Given the description of an element on the screen output the (x, y) to click on. 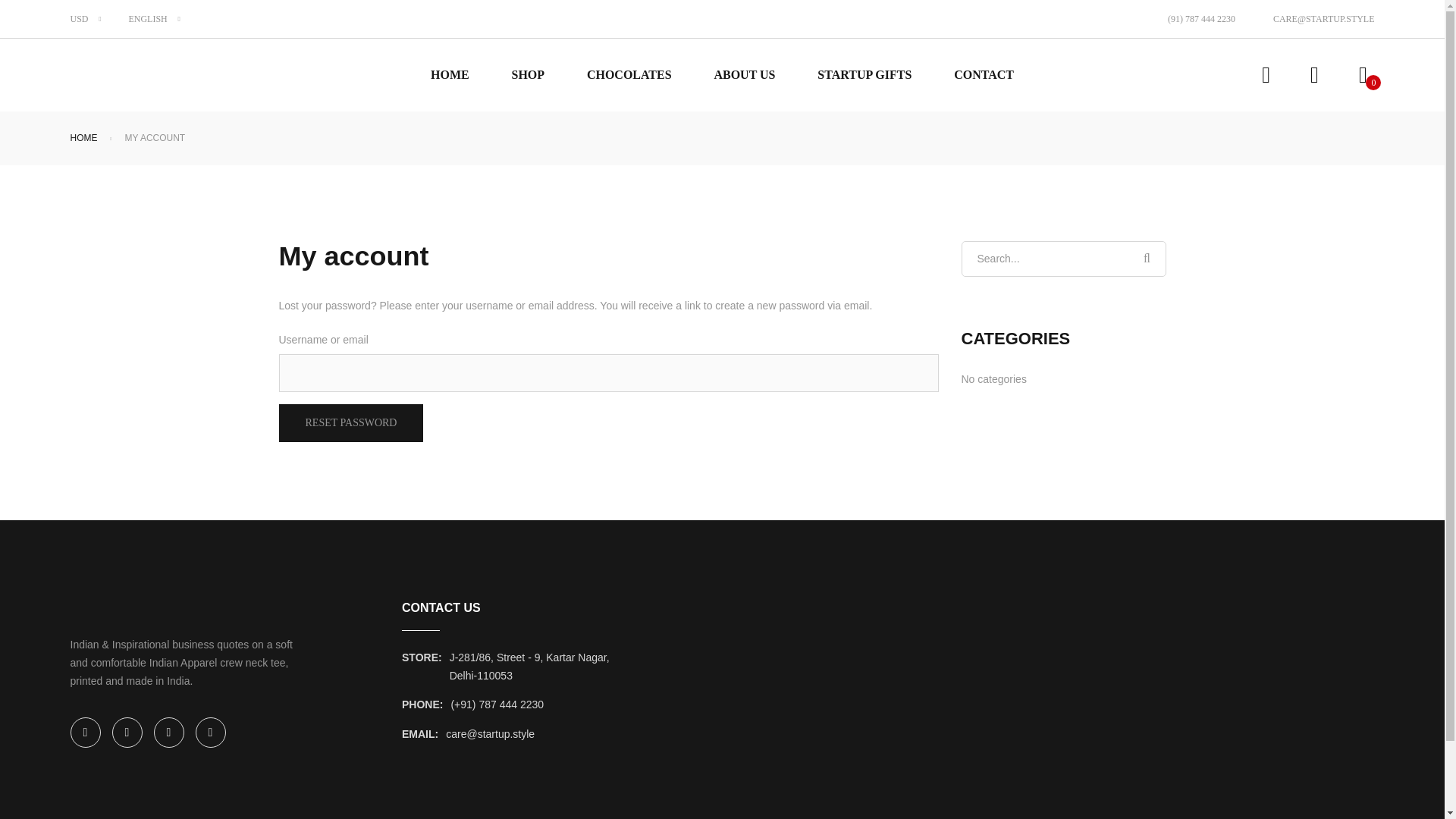
CHOCOLATES (628, 74)
ABOUT US (743, 74)
Follow us on Facebook (84, 732)
Follow us on Pinterest (167, 732)
0 (1362, 74)
CONTACT (983, 74)
Startup Style (105, 75)
Follow us on Twitter (127, 732)
Search (1146, 258)
STARTUP GIFTS (863, 74)
